Given the description of an element on the screen output the (x, y) to click on. 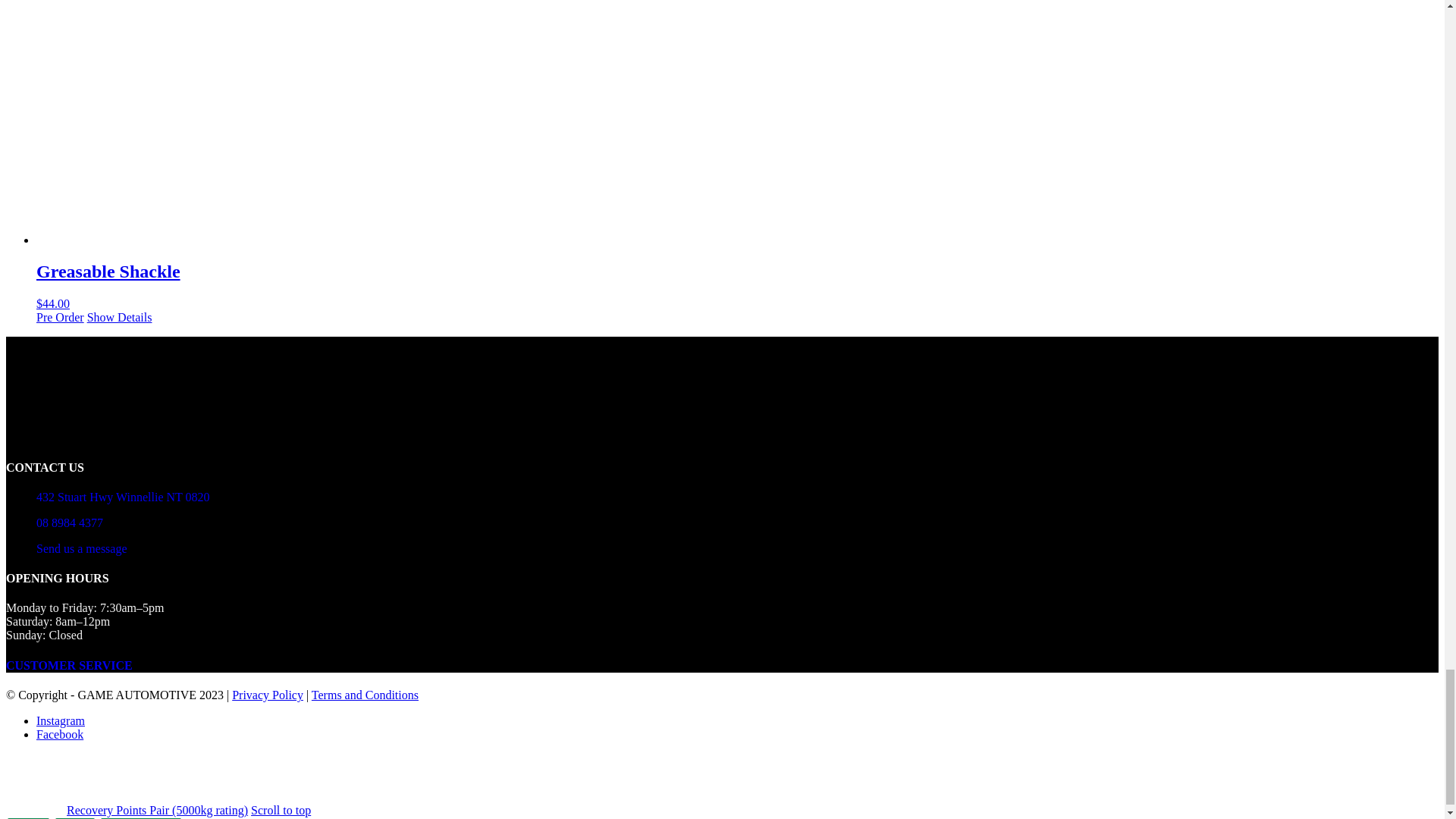
GAME Automotive logo (118, 388)
Instagram (60, 720)
Scroll to top (280, 809)
Facebook (59, 734)
